Given the description of an element on the screen output the (x, y) to click on. 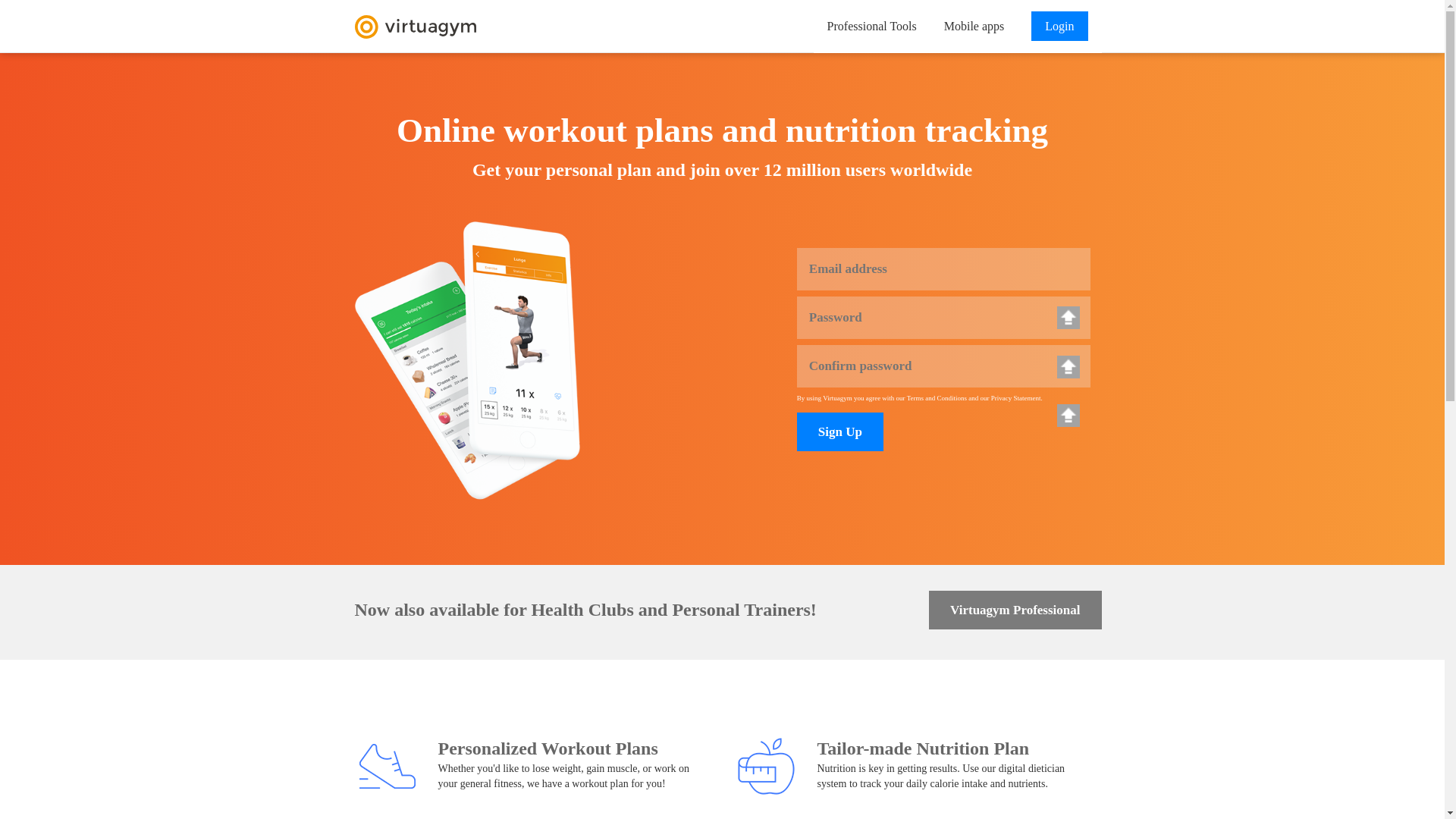
Login (1058, 26)
Privacy Statement (1016, 397)
Virtuagym Professional (1014, 610)
Terms and Conditions (936, 397)
Caps lock is enabled. (1068, 317)
Professional Tools (871, 26)
Caps lock is enabled. (1068, 366)
Caps lock is enabled. (1068, 415)
Mobile apps (973, 26)
Now also available for Health Clubs and Personal Trainers! (626, 609)
